Given the description of an element on the screen output the (x, y) to click on. 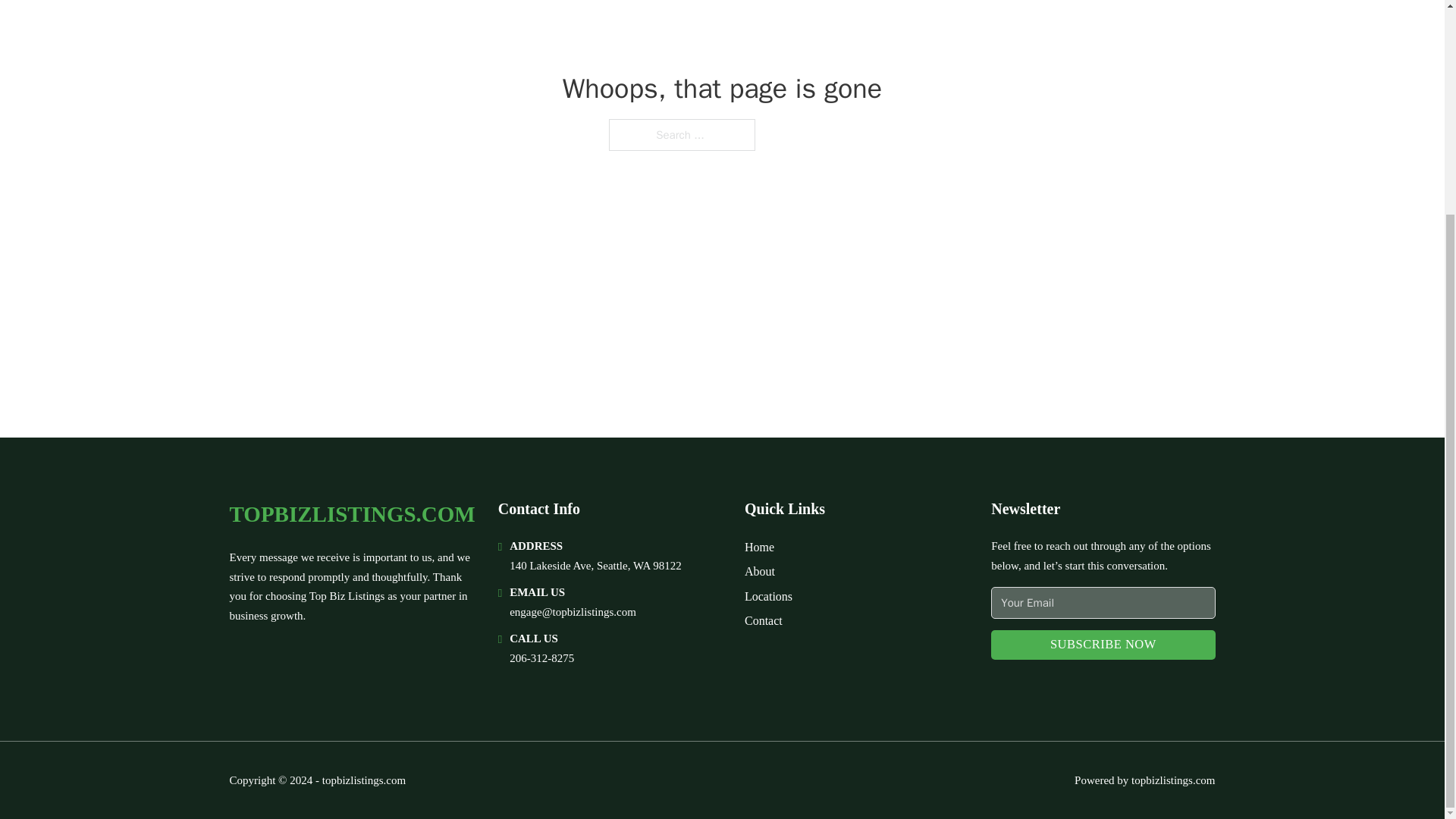
TOPBIZLISTINGS.COM (351, 514)
About (759, 571)
Home (759, 547)
Contact (763, 620)
SUBSCRIBE NOW (1102, 644)
206-312-8275 (541, 657)
Locations (768, 596)
